Given the description of an element on the screen output the (x, y) to click on. 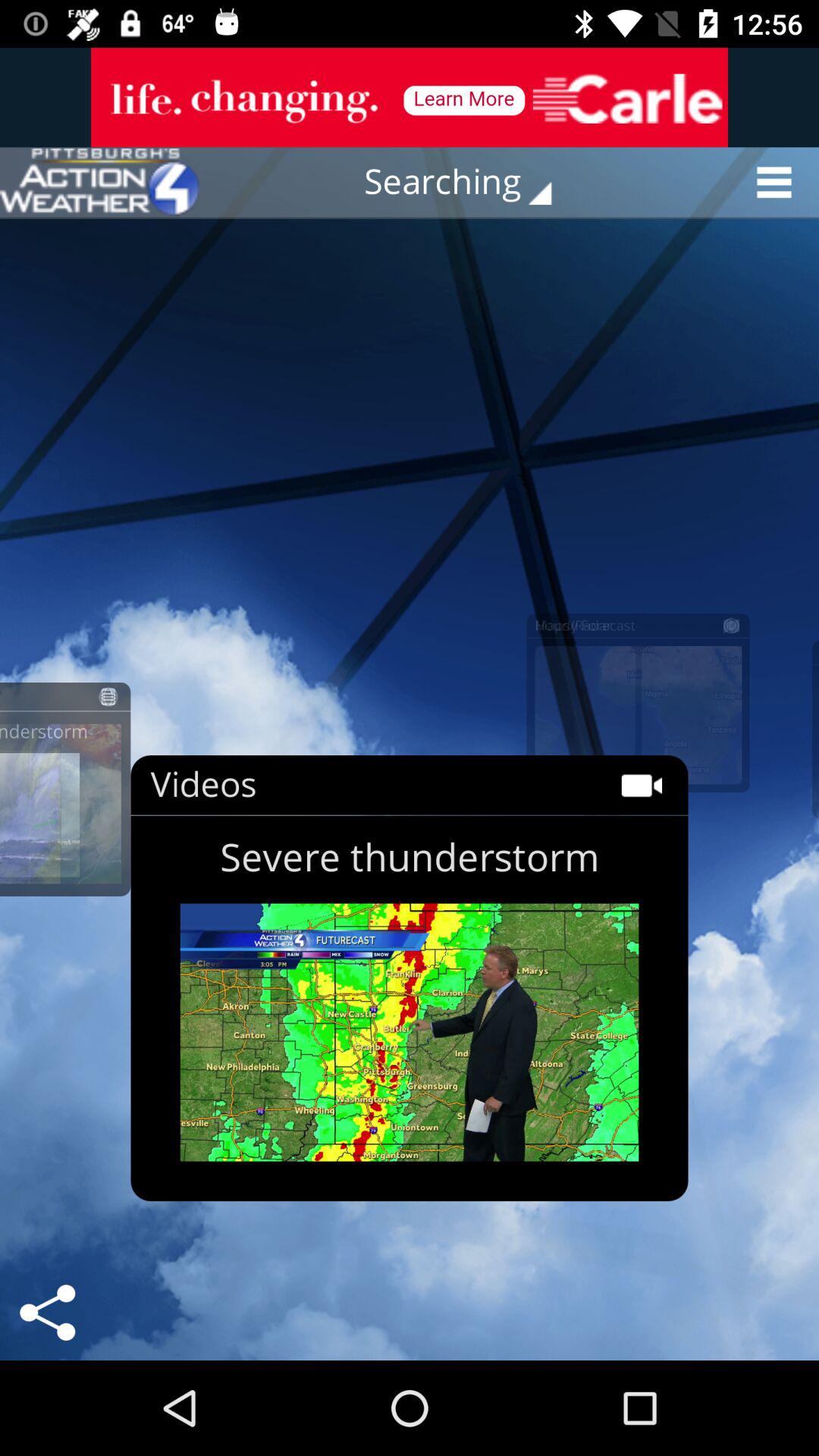
click on the share icon (47, 1312)
click the button searching on the web page (468, 181)
